Given the description of an element on the screen output the (x, y) to click on. 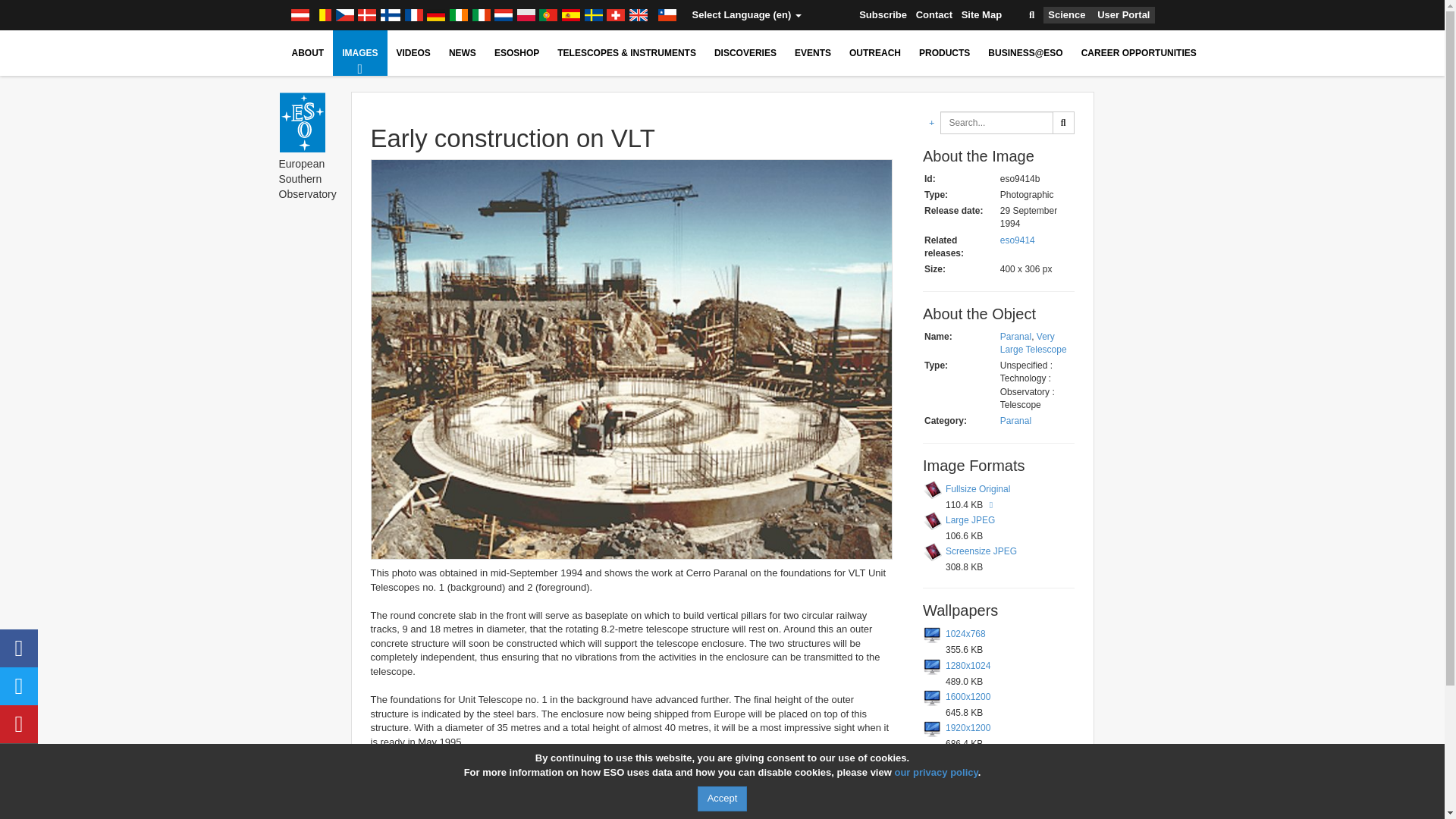
ABOUT (307, 53)
Austria (298, 15)
Belgium (322, 15)
Portugal (547, 15)
User Portal (1123, 14)
Sweden (593, 15)
Site Map (981, 15)
Poland (525, 15)
Denmark (366, 15)
Czechia (344, 15)
Spain (570, 15)
Germany (435, 15)
Contact (933, 15)
Subscribe (883, 15)
Netherlands (503, 15)
